Given the description of an element on the screen output the (x, y) to click on. 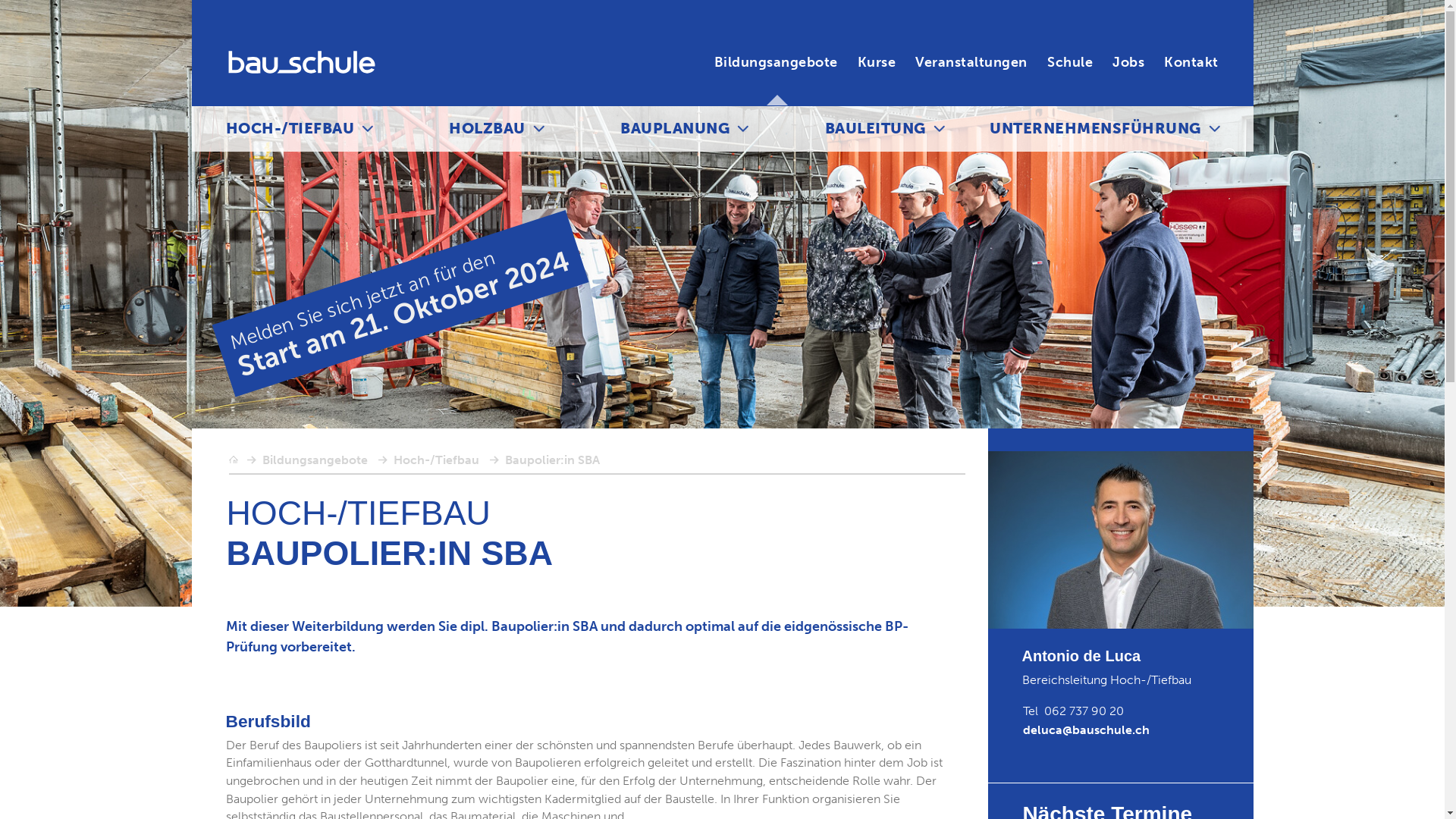
062 737 90 20 Element type: text (1083, 710)
deluca@bauschule.ch Element type: text (1085, 729)
Jobs Element type: text (1128, 62)
Veranstaltungen Element type: text (971, 62)
Bildungsangebote Element type: text (775, 62)
Baupolier:in SBA Element type: text (552, 459)
BAULEITUNG Element type: text (875, 128)
Kontakt Element type: text (1191, 62)
Kurse Element type: text (876, 62)
HOCH-/TIEFBAU Element type: text (289, 128)
Hoch-/Tiefbau Element type: text (435, 459)
Schule Element type: text (1069, 62)
HOLZBAU Element type: text (486, 128)
BAUPLANUNG Element type: text (674, 128)
Bildungsangebote Element type: text (314, 459)
